Given the description of an element on the screen output the (x, y) to click on. 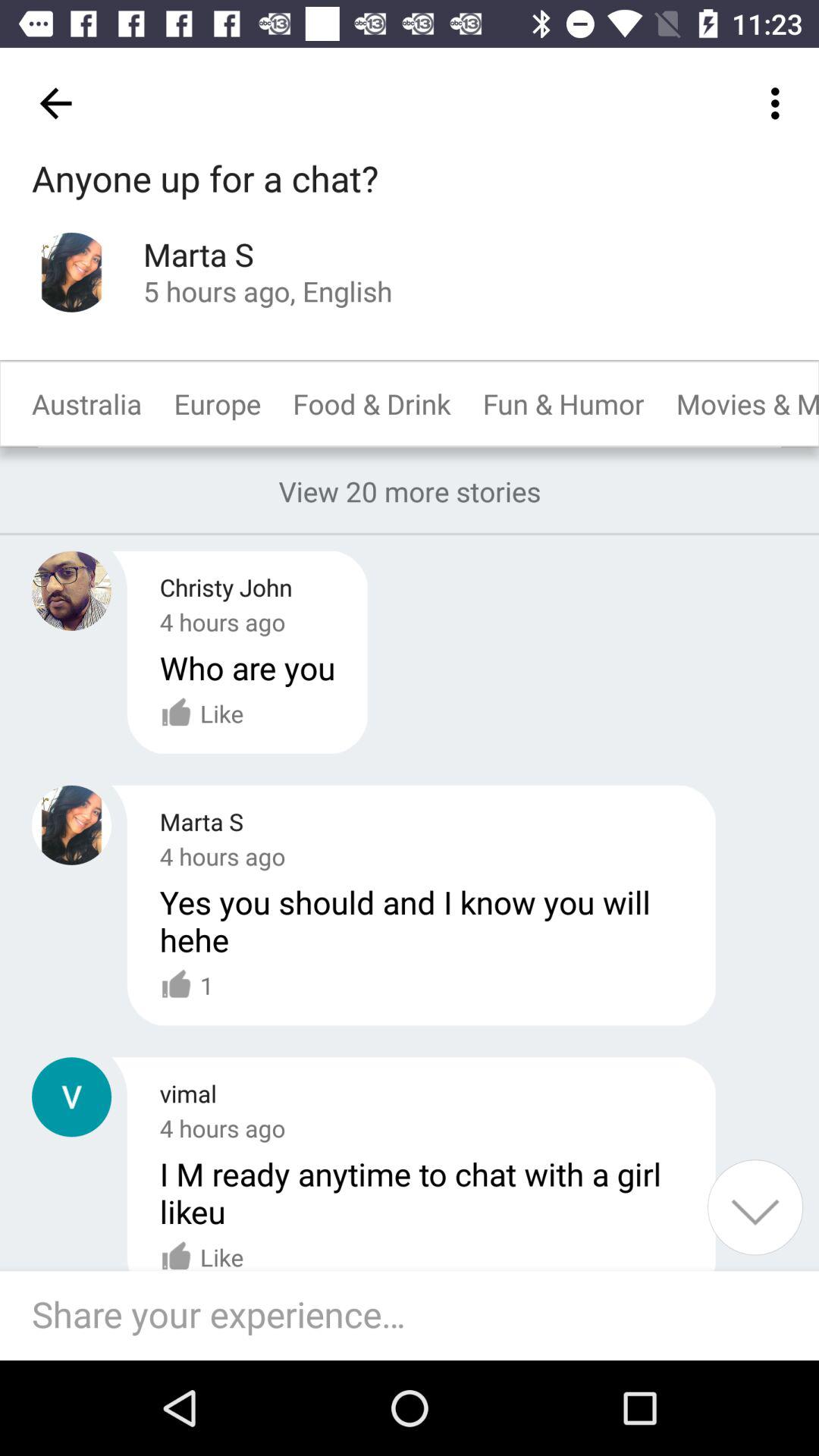
click contact (71, 1096)
